Given the description of an element on the screen output the (x, y) to click on. 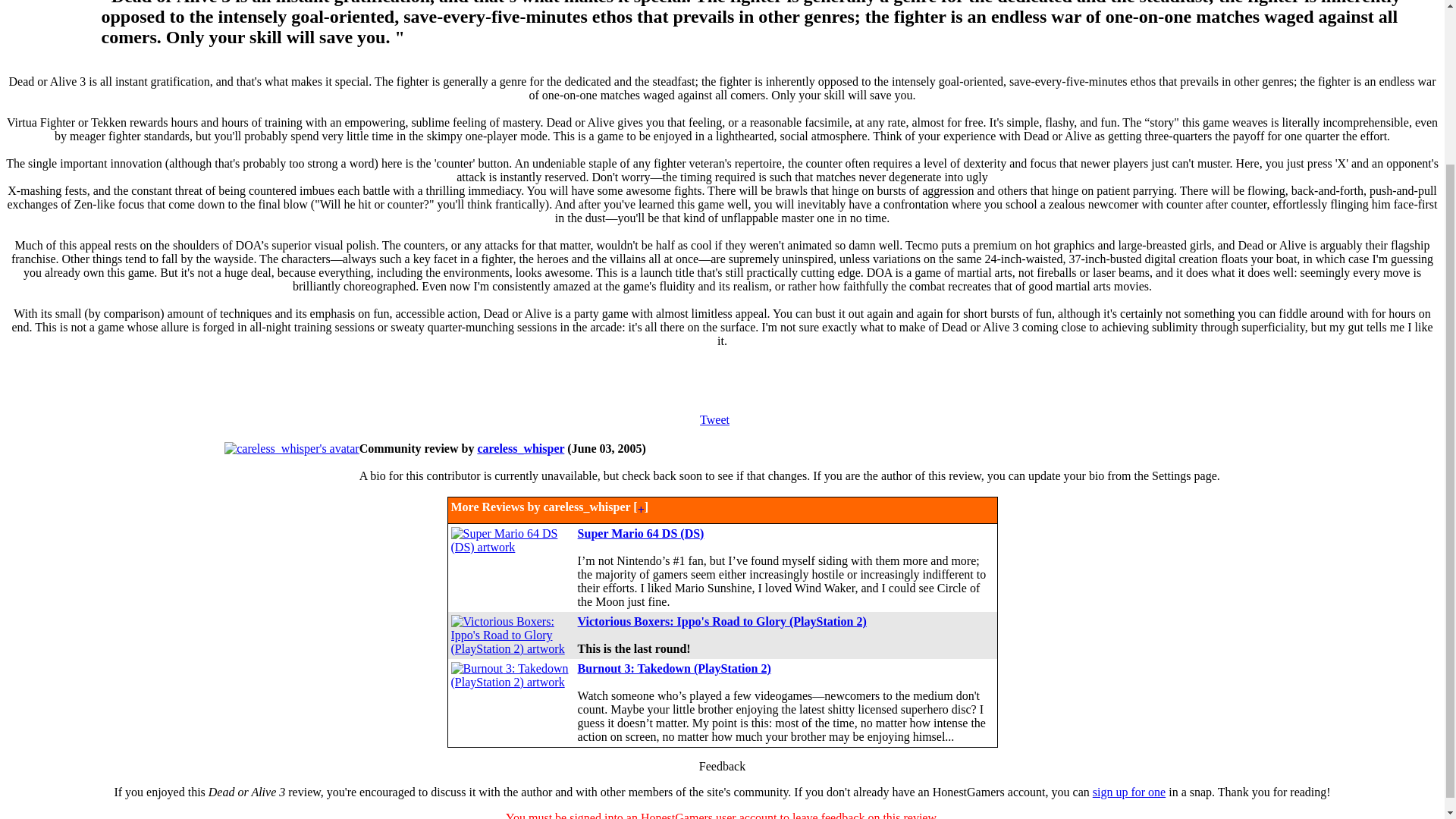
Tweet (714, 419)
sign up for one (1129, 791)
